Given the description of an element on the screen output the (x, y) to click on. 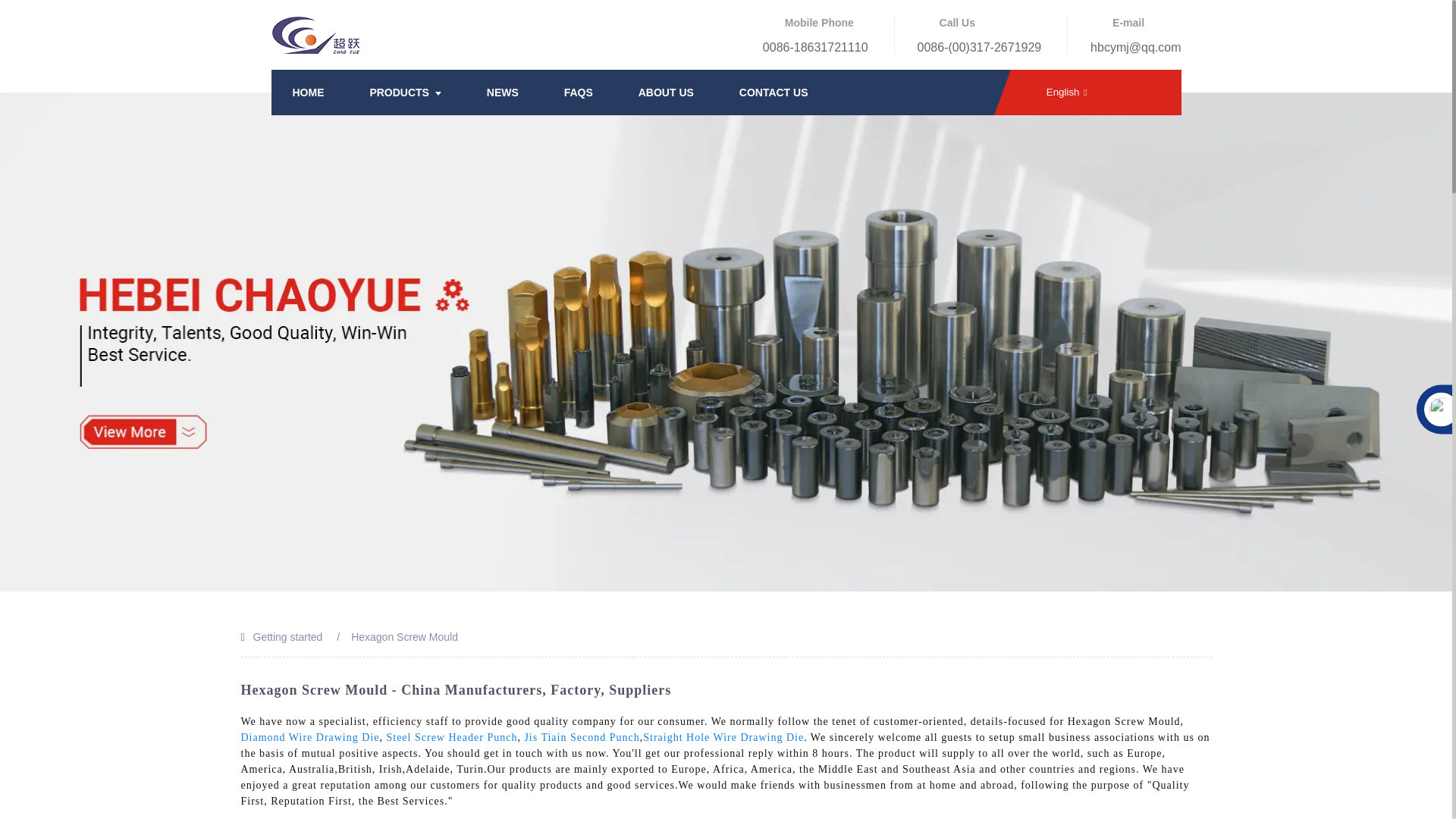
Straight Hole Wire Drawing Die (723, 737)
Jis Tiain Second Punch (581, 737)
PRODUCTS (405, 92)
Straight Hole Wire Drawing Die (723, 737)
FAQS (578, 92)
Steel Screw Header Punch (450, 737)
HOME (307, 92)
NEWS (502, 92)
CONTACT US (773, 92)
Diamond Wire Drawing Die (310, 737)
